Given the description of an element on the screen output the (x, y) to click on. 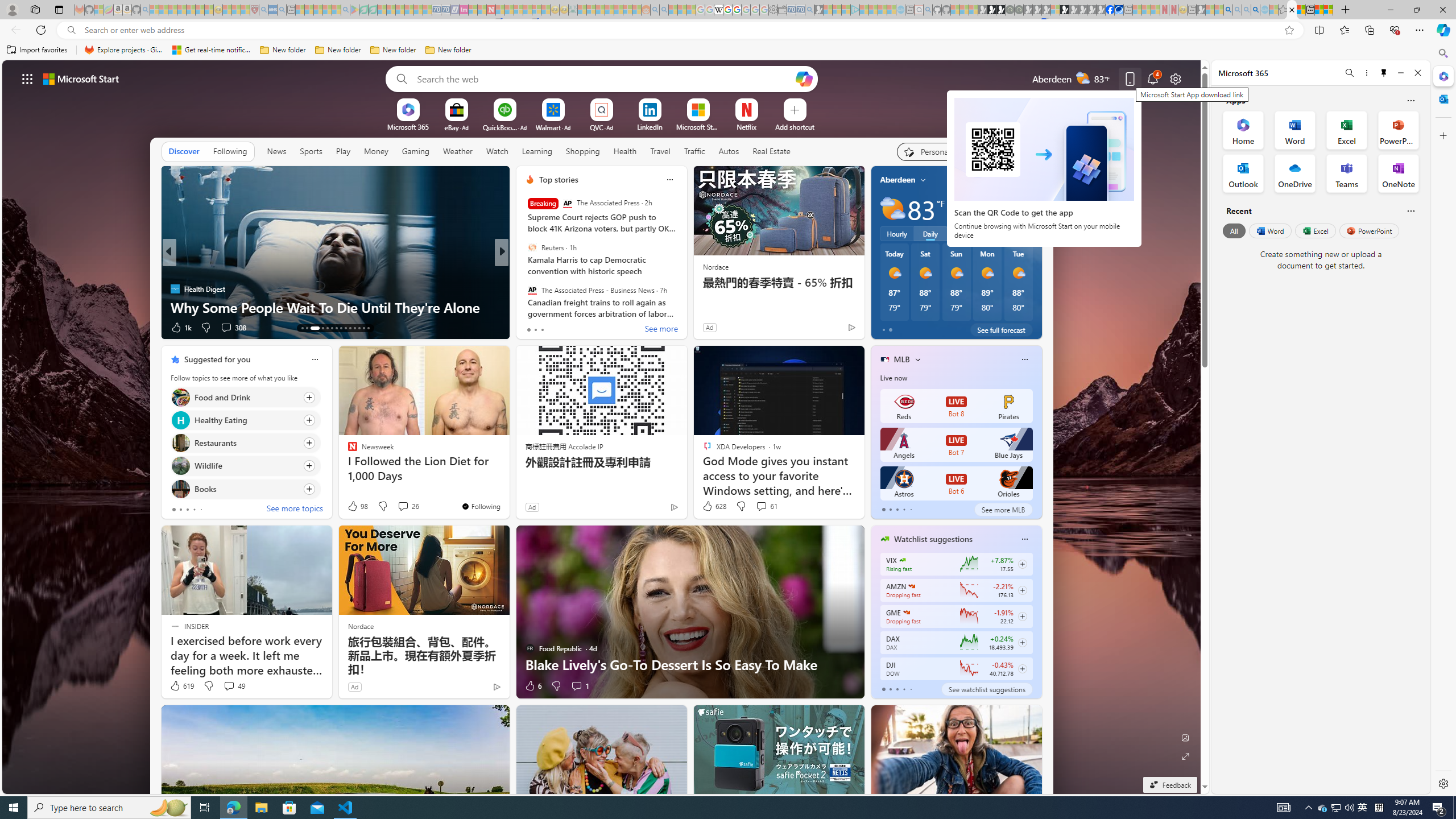
The Associated Press - Business News (532, 289)
Top stories (558, 179)
View comments 81 Comment (585, 327)
View comments 84 Comment (580, 327)
Lucy Diamond (524, 288)
Food and Drink (180, 397)
